Given the description of an element on the screen output the (x, y) to click on. 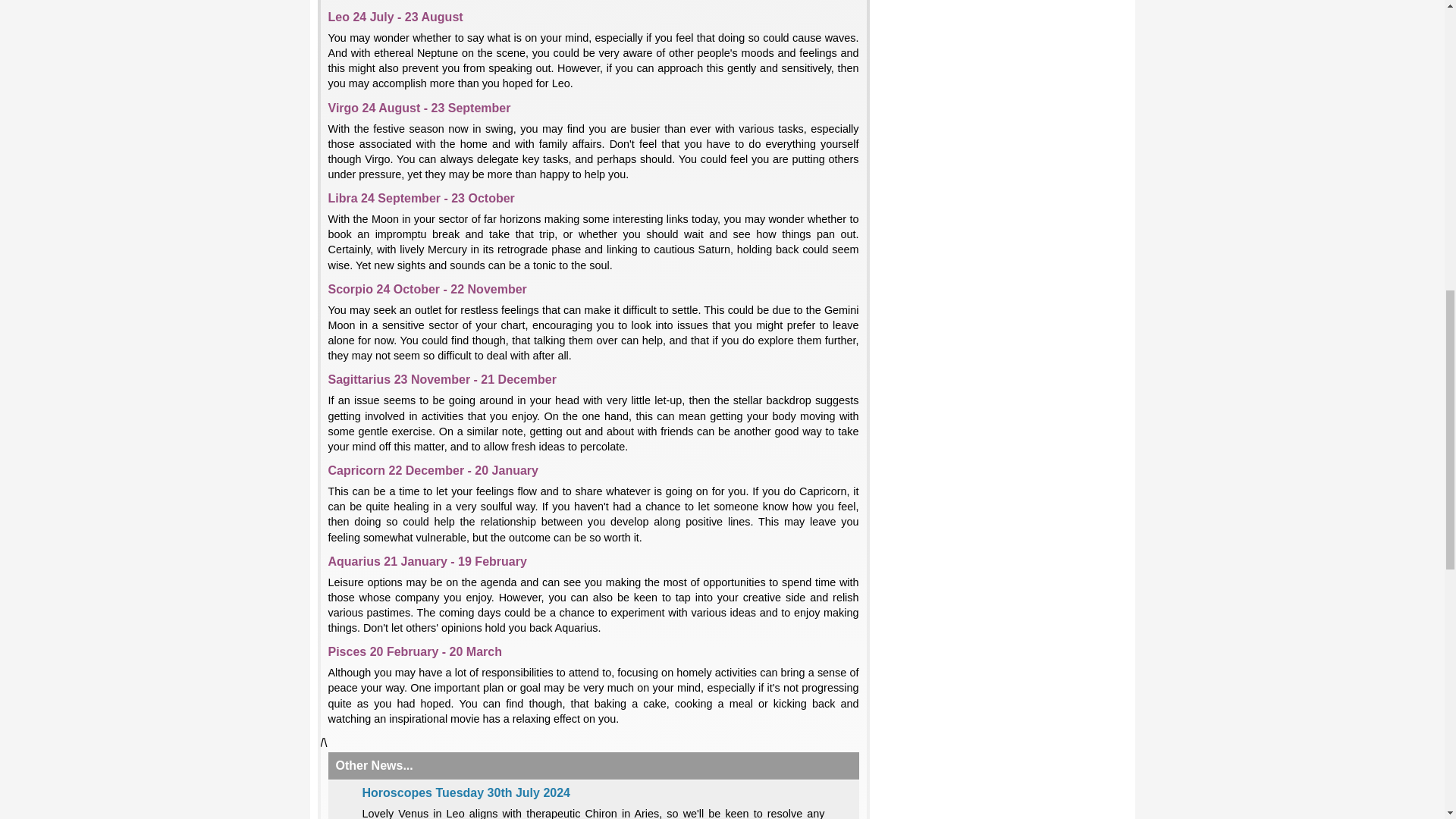
Horoscopes Tuesday 30th July 2024 (466, 792)
